Given the description of an element on the screen output the (x, y) to click on. 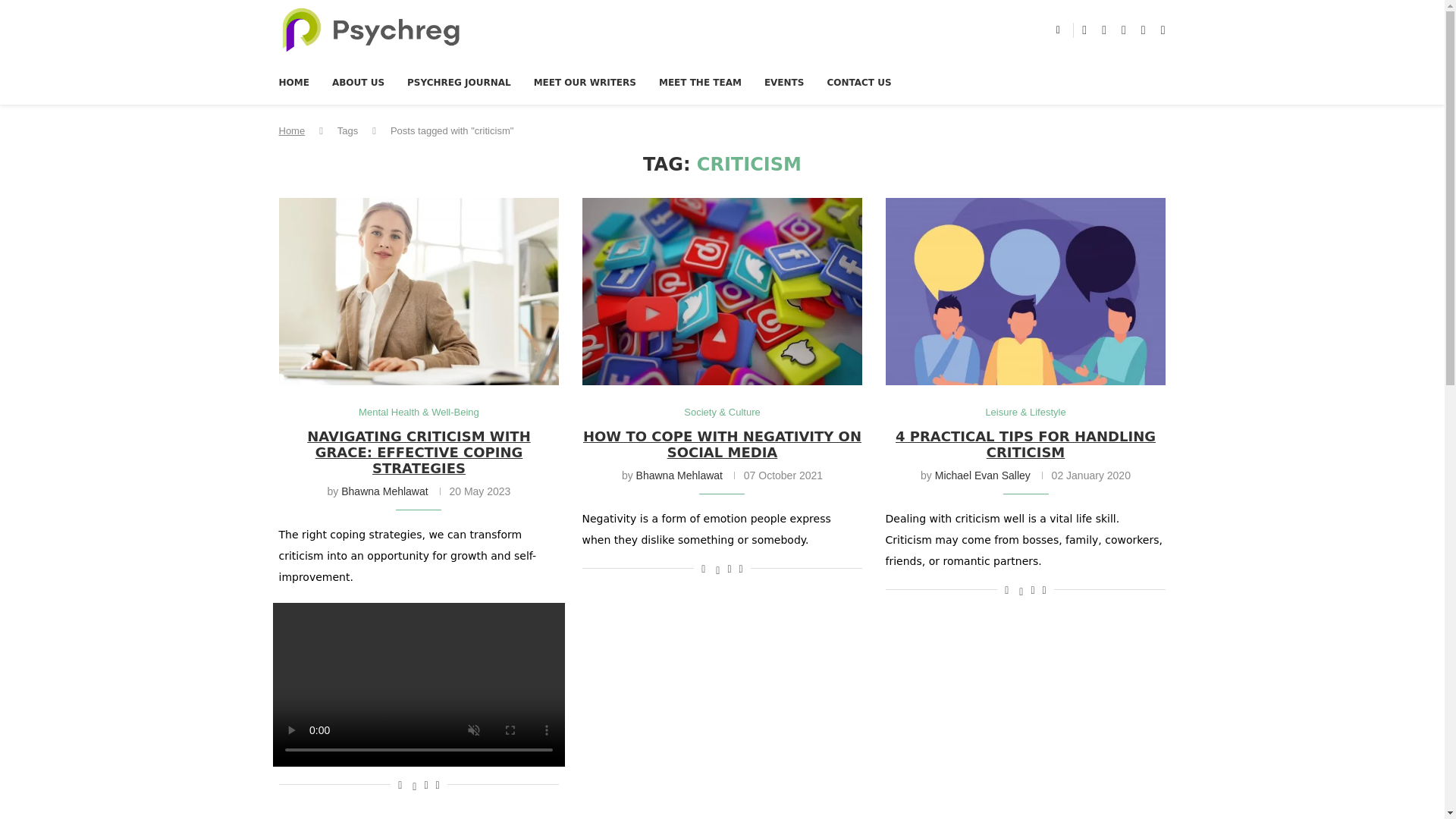
Navigating Criticism with Grace: Effective Coping Strategies (419, 291)
MEET THE TEAM (700, 82)
ABOUT US (357, 82)
CONTACT US (859, 82)
EVENTS (784, 82)
How to Cope with Negativity on Social Media (722, 291)
4 Practical Tips for Handling Criticism (1025, 291)
MEET OUR WRITERS (585, 82)
PSYCHREG JOURNAL (459, 82)
